Given the description of an element on the screen output the (x, y) to click on. 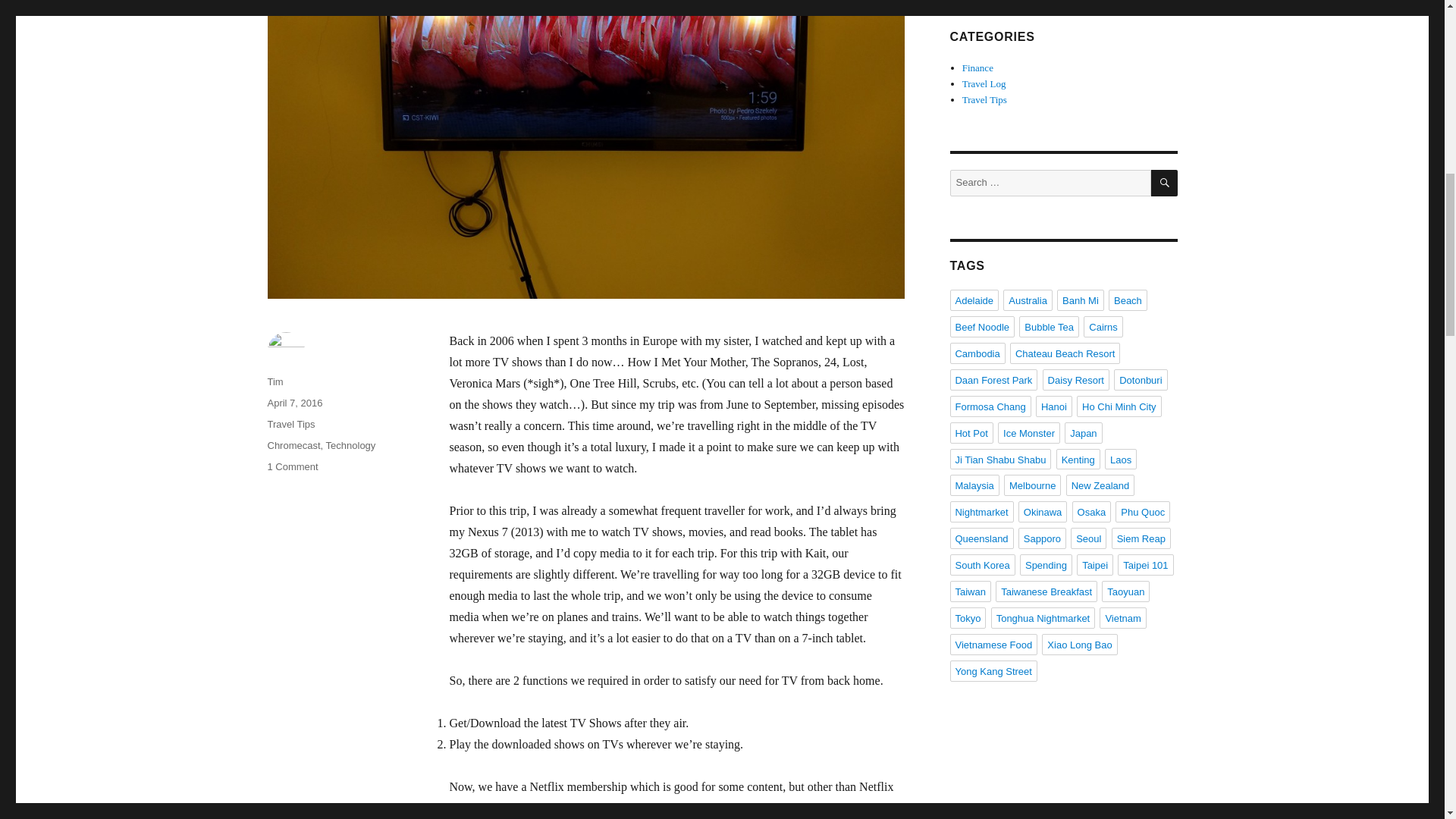
Bubble Tea (1048, 326)
Chateau Beach Resort (1065, 353)
Adelaide (973, 300)
Dotonburi (1140, 379)
Beach (1127, 300)
Daan Forest Park (992, 379)
SEARCH (1164, 182)
Technology (350, 445)
Travel Tips (984, 99)
April 7, 2016 (293, 402)
